Given the description of an element on the screen output the (x, y) to click on. 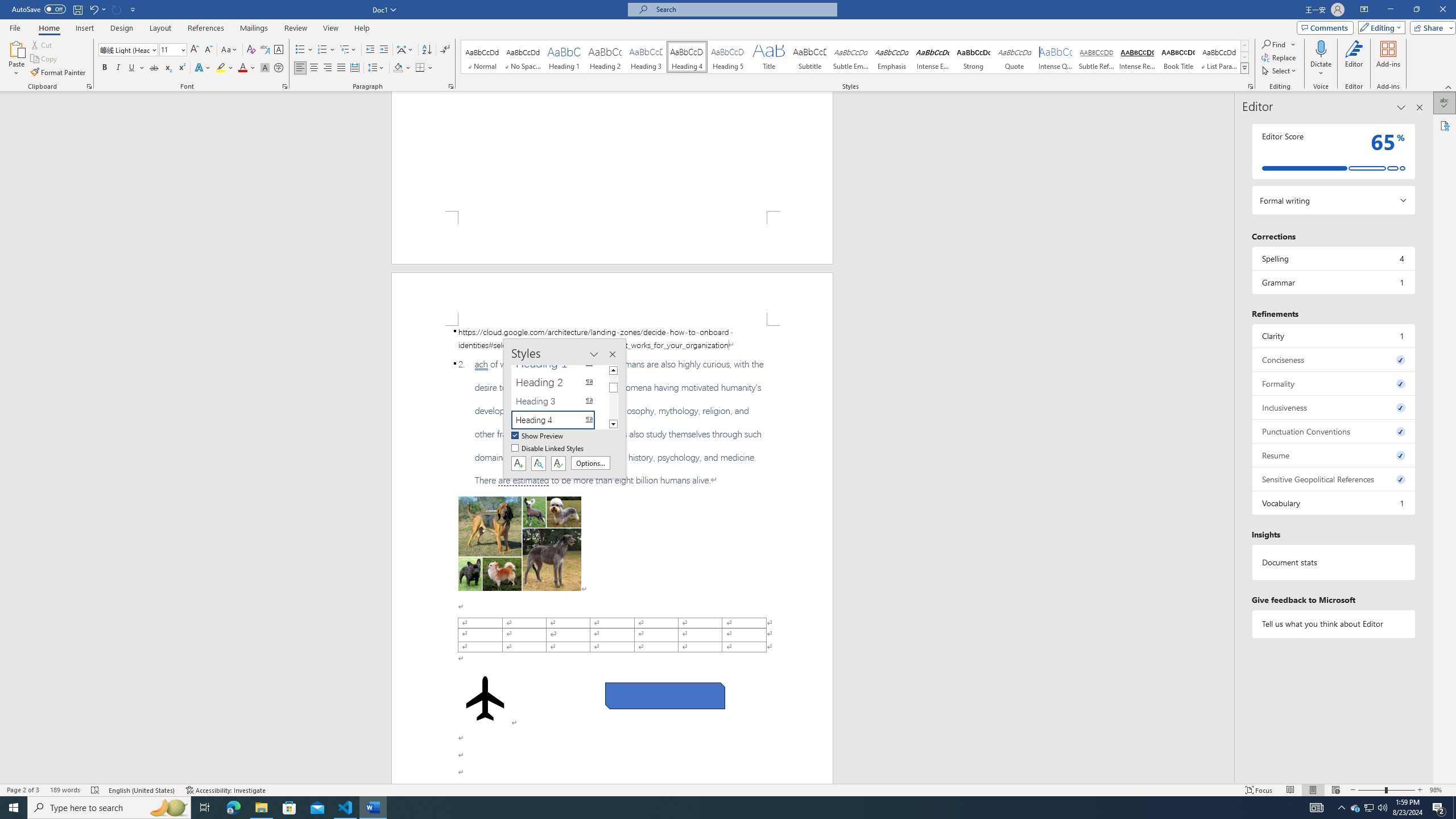
Subtitle (809, 56)
2. (611, 422)
Text Effects and Typography (202, 67)
Layout (160, 28)
Strong (973, 56)
Zoom Out (1371, 790)
Undo Style (96, 9)
Underline (136, 67)
Replace... (1279, 56)
Multilevel List (347, 49)
Numbering (326, 49)
Web Layout (1335, 790)
Class: NetUIScrollBar (1229, 437)
